Given the description of an element on the screen output the (x, y) to click on. 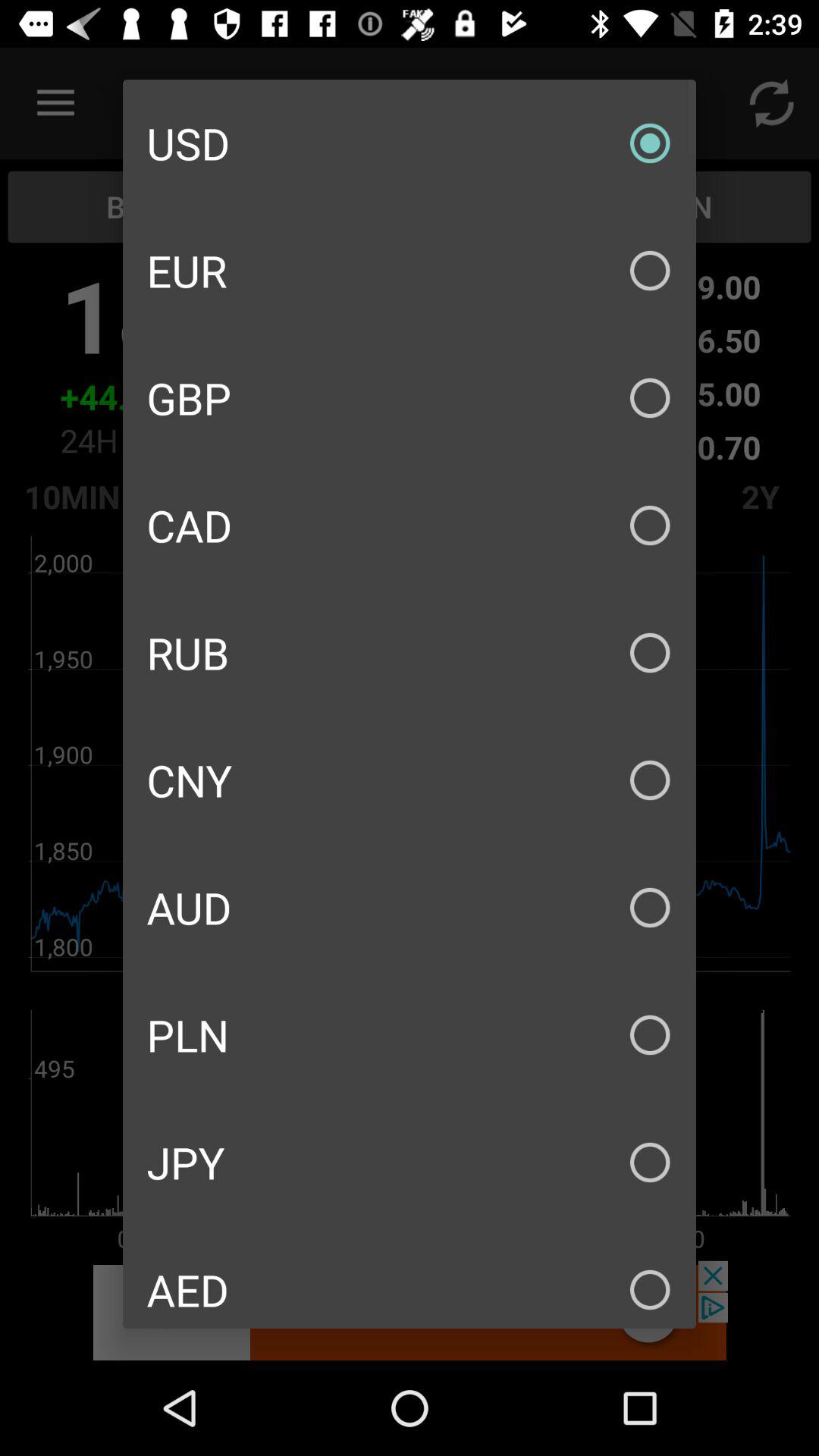
swipe until the jpy (409, 1162)
